Given the description of an element on the screen output the (x, y) to click on. 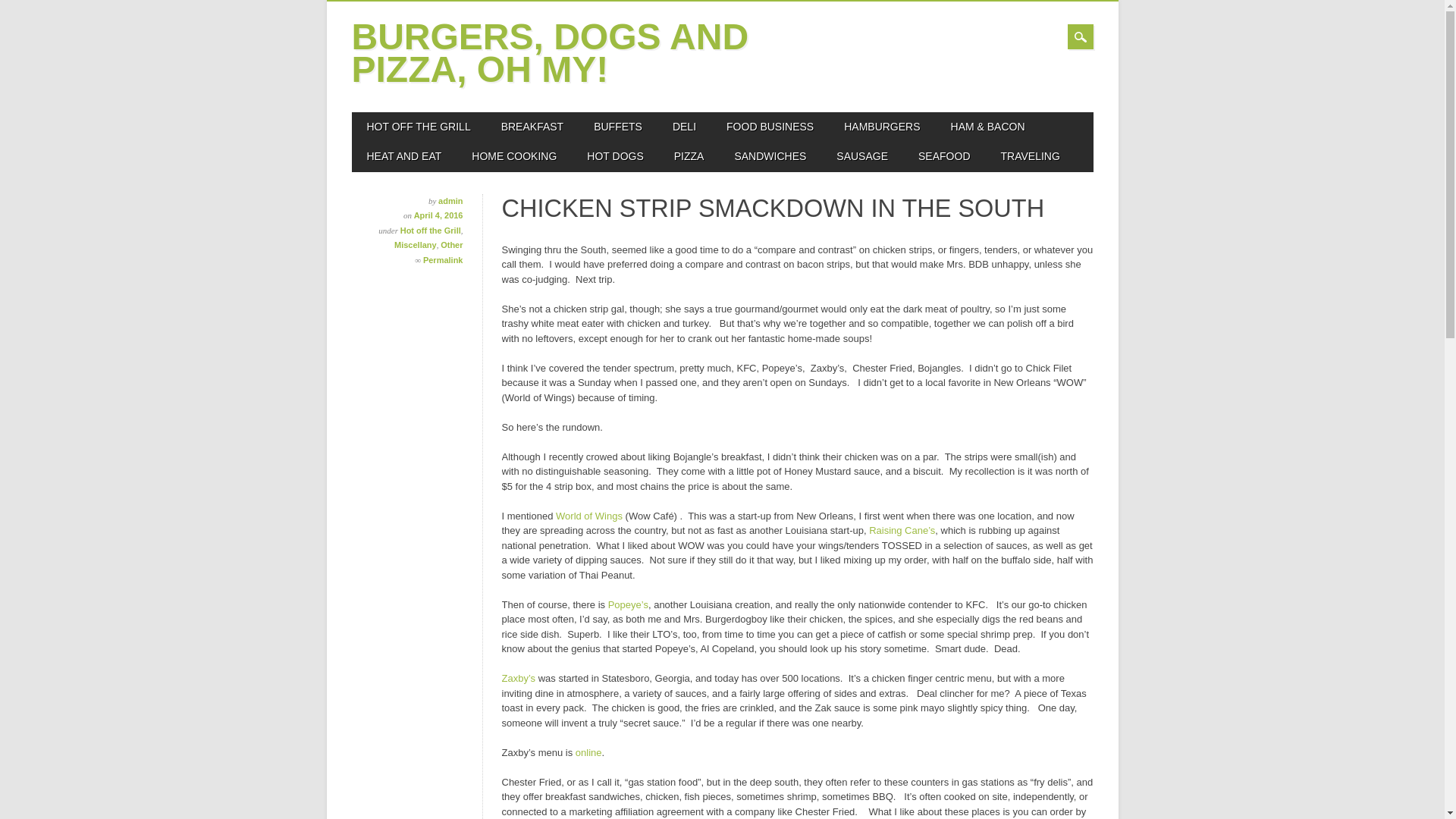
Hot off the Grill (430, 230)
Permalink (443, 259)
HOME COOKING (514, 156)
HOT OFF THE GRILL (419, 127)
HEAT AND EAT (404, 156)
BURGERS, DOGS AND PIZZA, OH MY! (550, 52)
HAMBURGERS (881, 127)
admin (450, 200)
BREAKFAST (532, 127)
SAUSAGE (861, 156)
April 4, 2016 (438, 215)
DELI (684, 127)
HOT DOGS (615, 156)
SANDWICHES (770, 156)
8:45 am (438, 215)
